Given the description of an element on the screen output the (x, y) to click on. 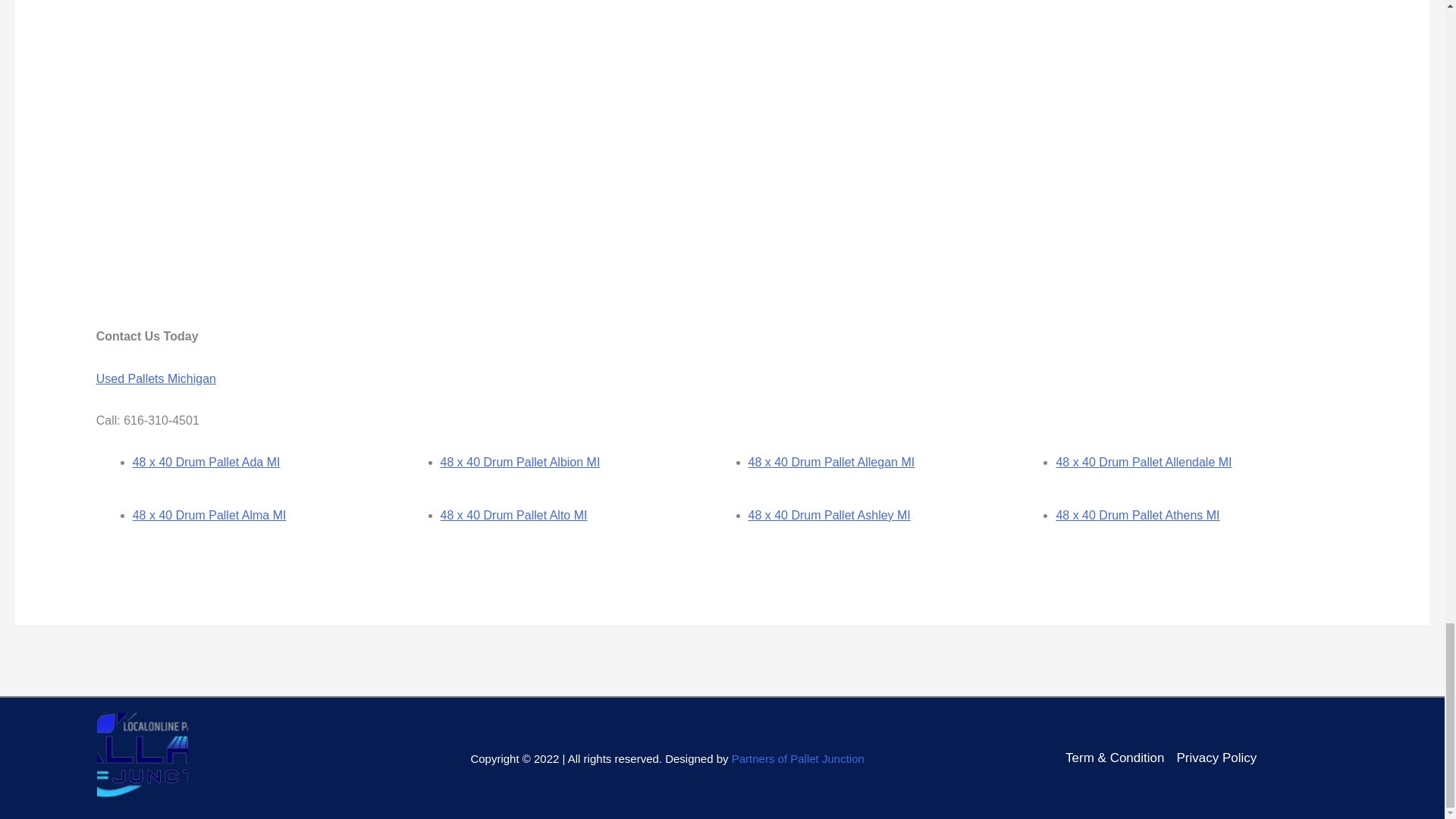
48 x 40 Drum Pallet Allegan MI (831, 461)
48 x 40 Drum Pallet Athens MI (1137, 514)
48 x 40 Drum Pallet Alma MI (209, 514)
48 x 40 Drum Pallet Albion MI (520, 461)
48 x 40 Drum Pallet Allendale MI (1143, 461)
48 x 40 Drum Pallet Alto MI (514, 514)
Partners of Pallet Junction (798, 758)
48 x 40 Drum Pallet Ada MI (206, 461)
Privacy Policy (1216, 758)
48 x 40 Drum Pallet Ashley MI (829, 514)
48 x 40 Drum Pallet Ada MI (206, 461)
48 x 40 Drum Pallet Albion MI (520, 461)
48 x 40 Drum Pallet Allendale MI (1143, 461)
48 x 40 Drum Pallet Allegan MI (831, 461)
Used Pallets Michigan (155, 377)
